Given the description of an element on the screen output the (x, y) to click on. 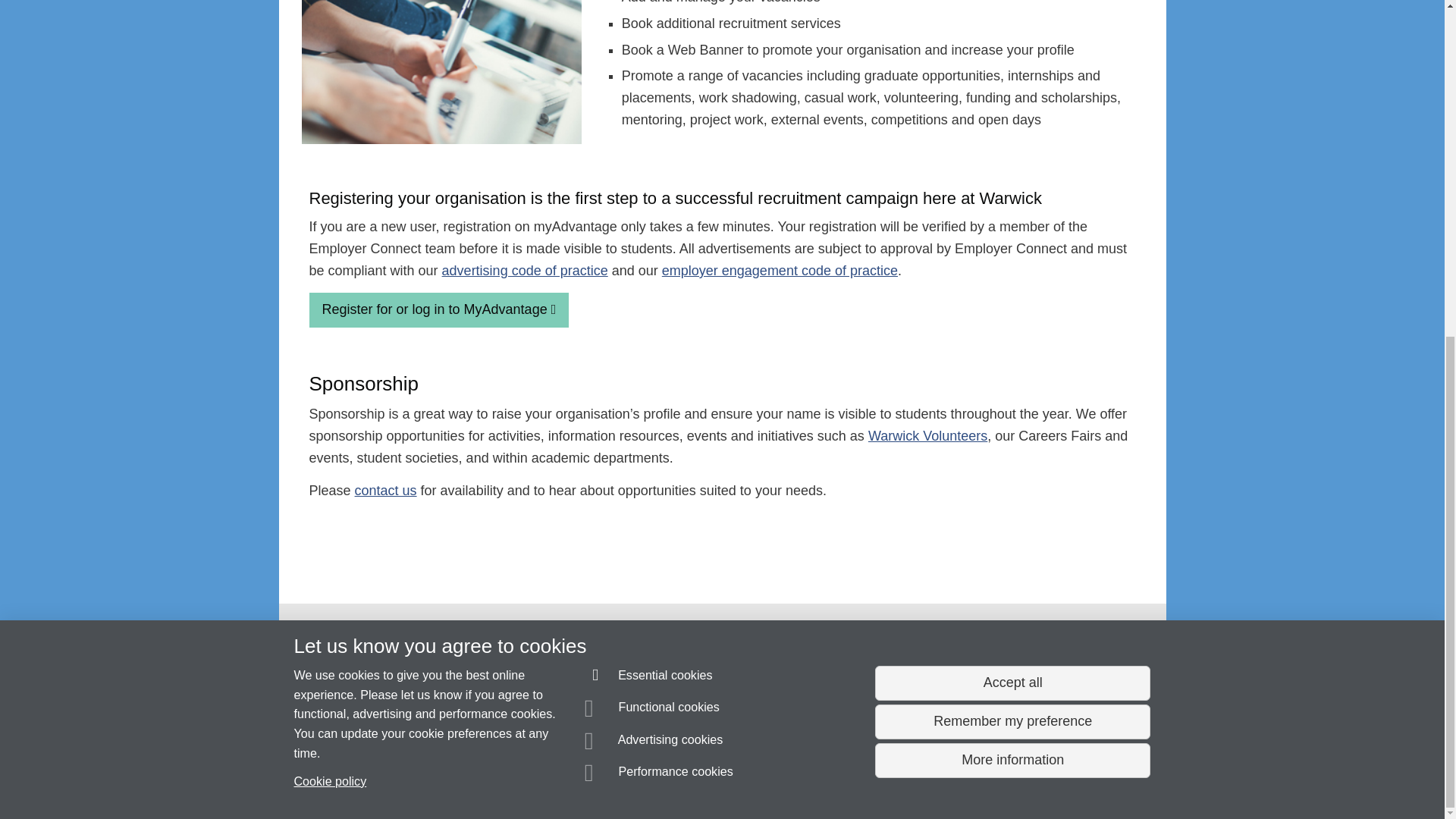
More information about SiteBuilder (365, 780)
Privacy notice (673, 780)
Information about cookies (467, 780)
Copyright Statement (514, 780)
Accept all functional, advertising and performance cookies (1012, 117)
Essential cookies are always on (649, 112)
